Given the description of an element on the screen output the (x, y) to click on. 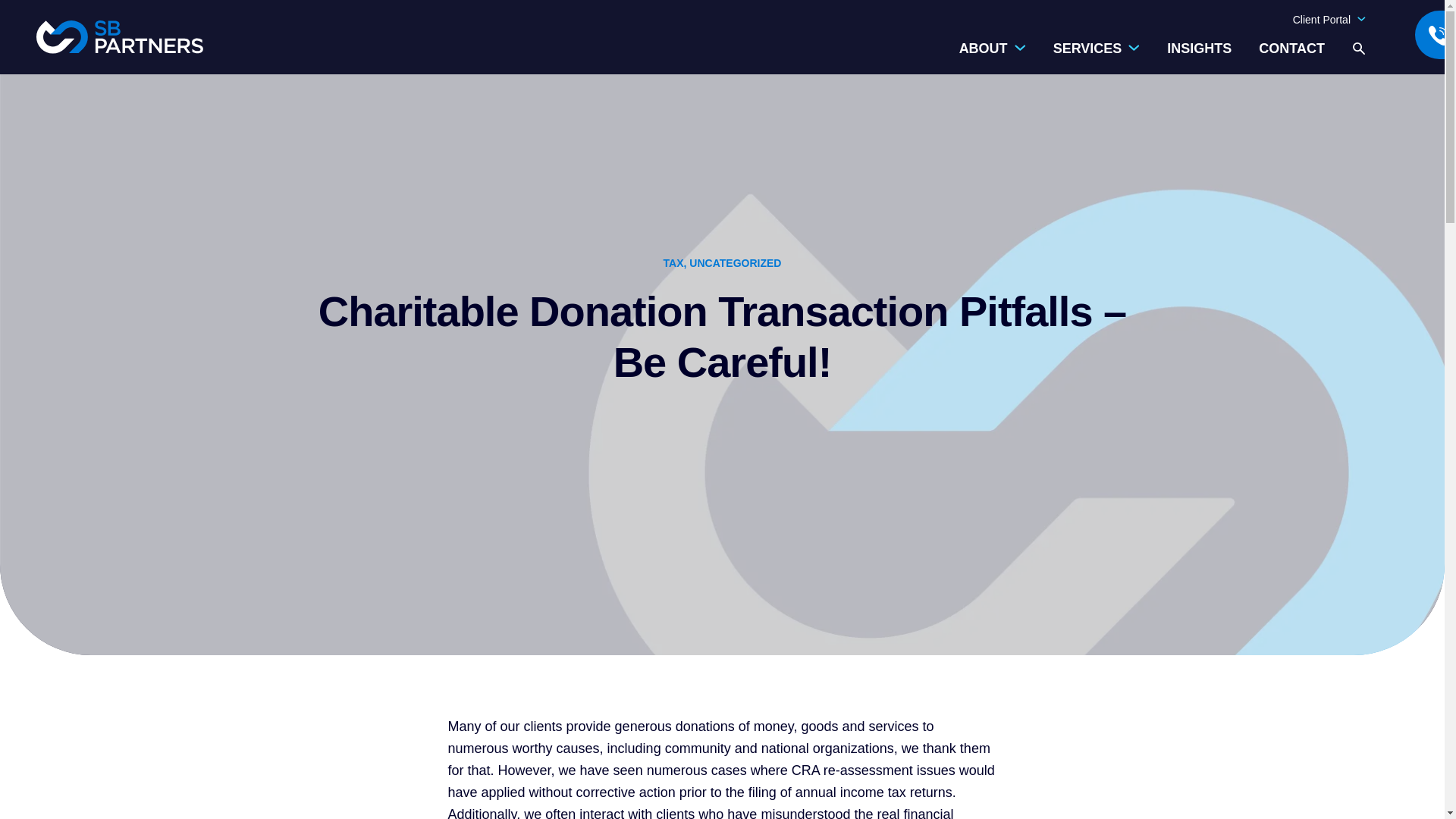
Insights (1199, 48)
Services (1096, 57)
INSIGHTS (1199, 48)
SERVICES (1096, 57)
CONTACT (1291, 48)
ABOUT (992, 57)
About (992, 57)
Client Portal (1328, 19)
